Given the description of an element on the screen output the (x, y) to click on. 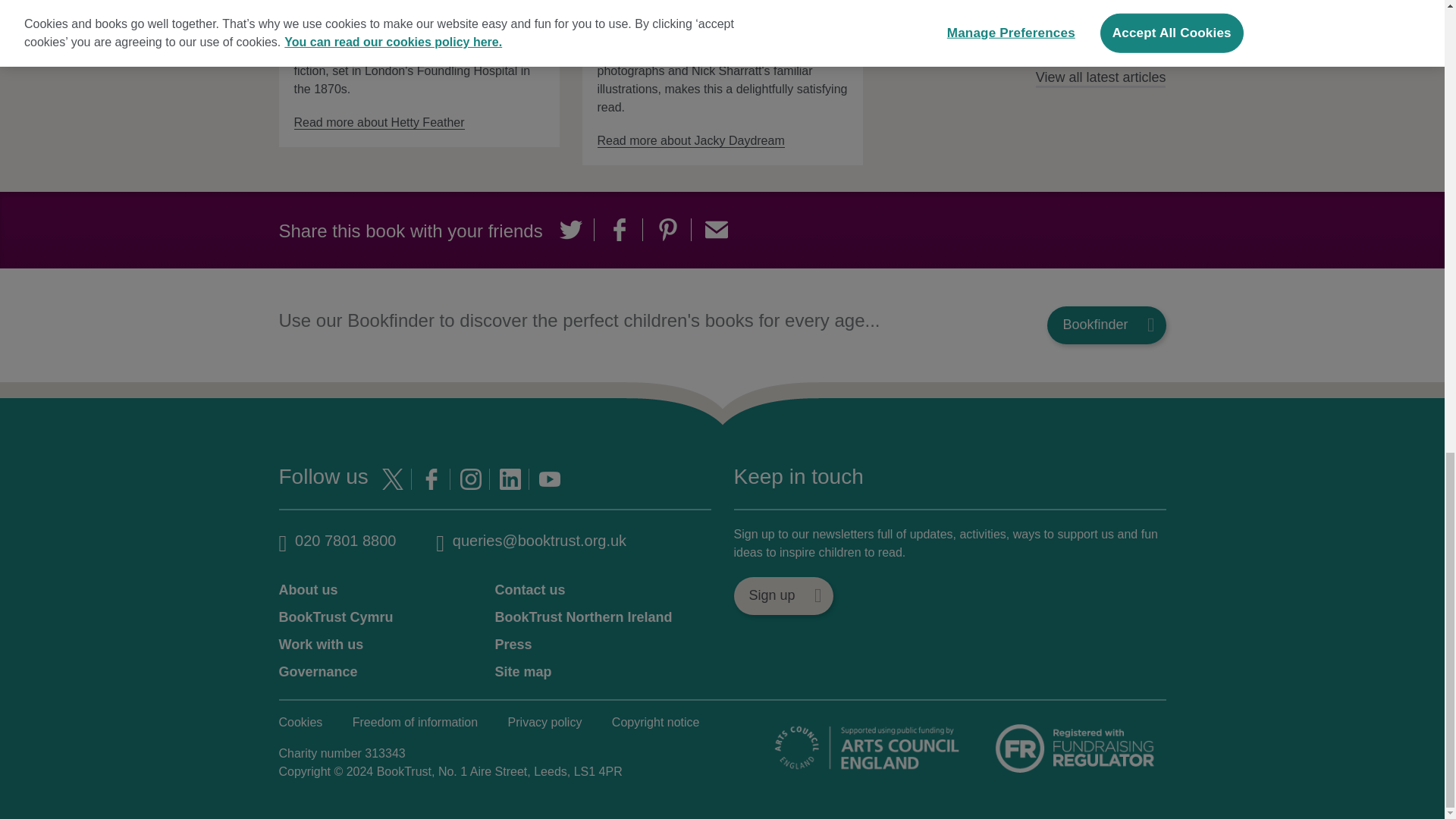
Hetty Feather (379, 122)
Jacky Daydream (690, 141)
10 winning children's books about sport (927, 8)
